Given the description of an element on the screen output the (x, y) to click on. 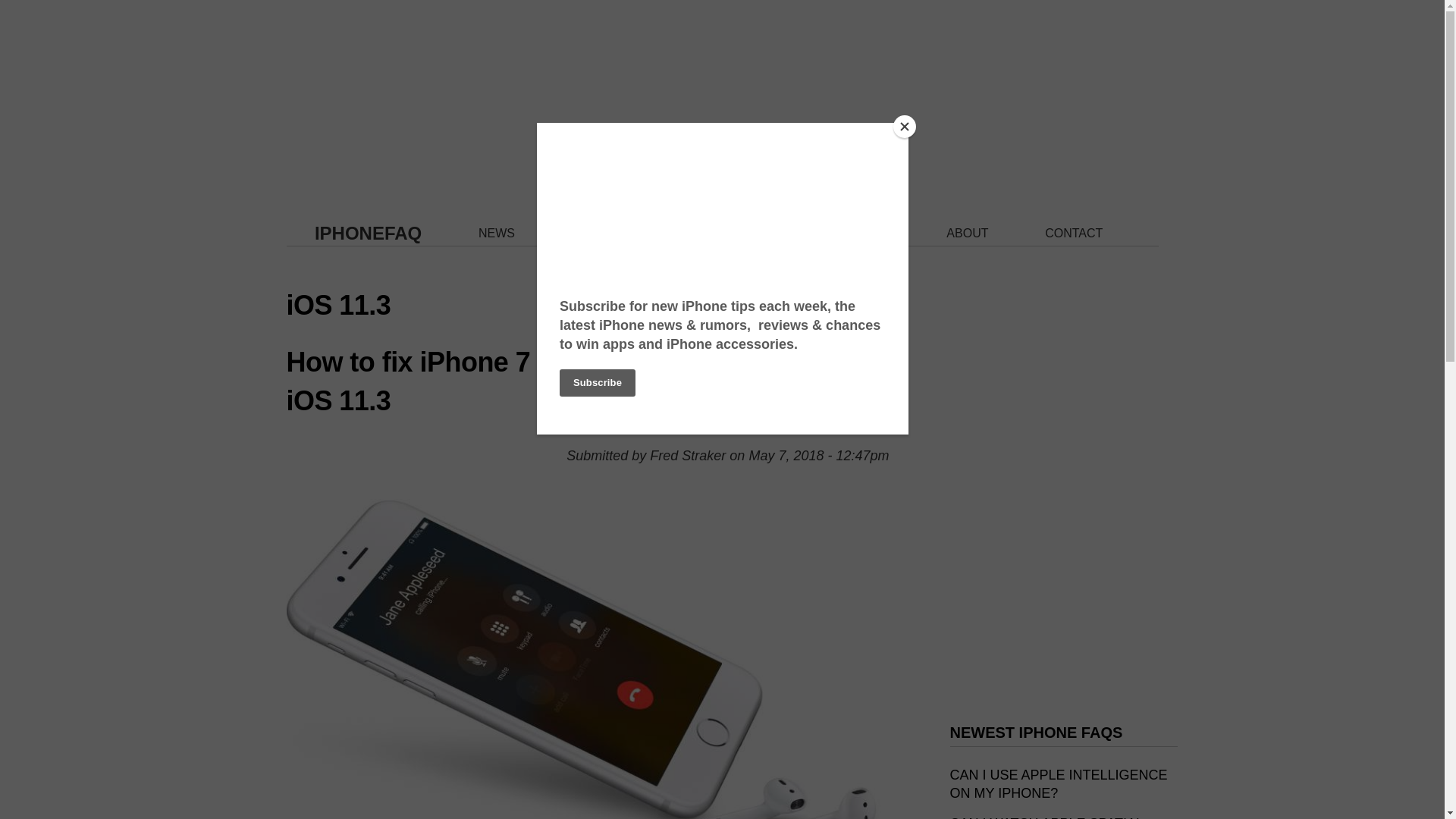
Tips on how to make the most of your iPhone or iOS device. (769, 232)
GUIDES (675, 232)
How to fix iPhone 7 microphone not working on iOS 11.3 (586, 380)
Learn more about The iPhone FAQ. (967, 232)
TIPS (769, 232)
ABOUT (967, 232)
3rd party ad content (1062, 592)
Contact us with your questions or comments. (1073, 232)
3rd party ad content (1062, 362)
Search all our iPhone and iOS articles and FAQs. (864, 232)
NEWS (497, 232)
SEARCH (864, 232)
FAQ (583, 232)
3rd party ad content (721, 94)
CAN I USE APPLE INTELLIGENCE ON MY IPHONE? (1058, 783)
